Given the description of an element on the screen output the (x, y) to click on. 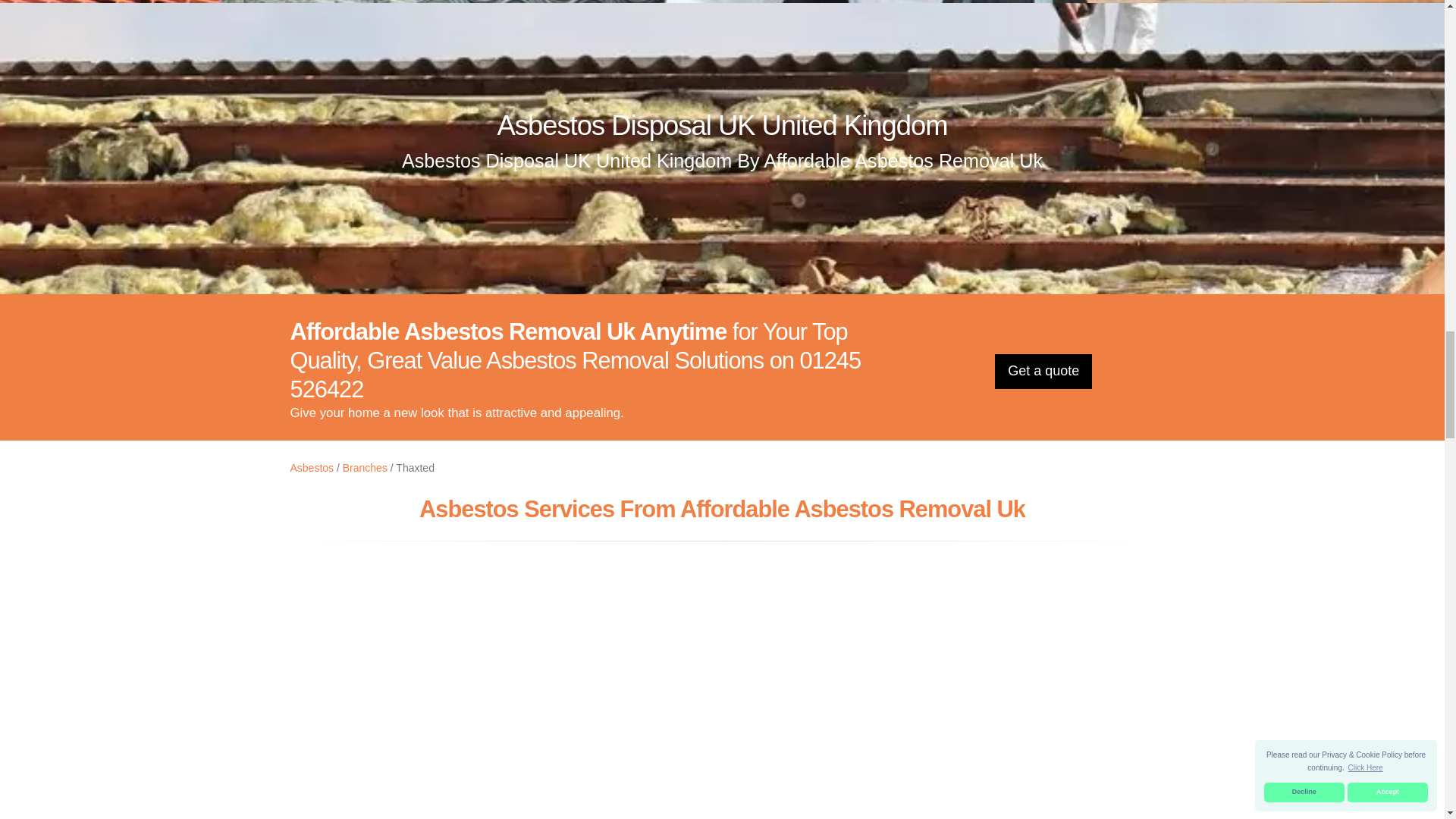
Asbestos Disposal UK United Kingdom (721, 124)
Branches (364, 467)
Asbestos (311, 467)
Get a quote (1043, 371)
